Given the description of an element on the screen output the (x, y) to click on. 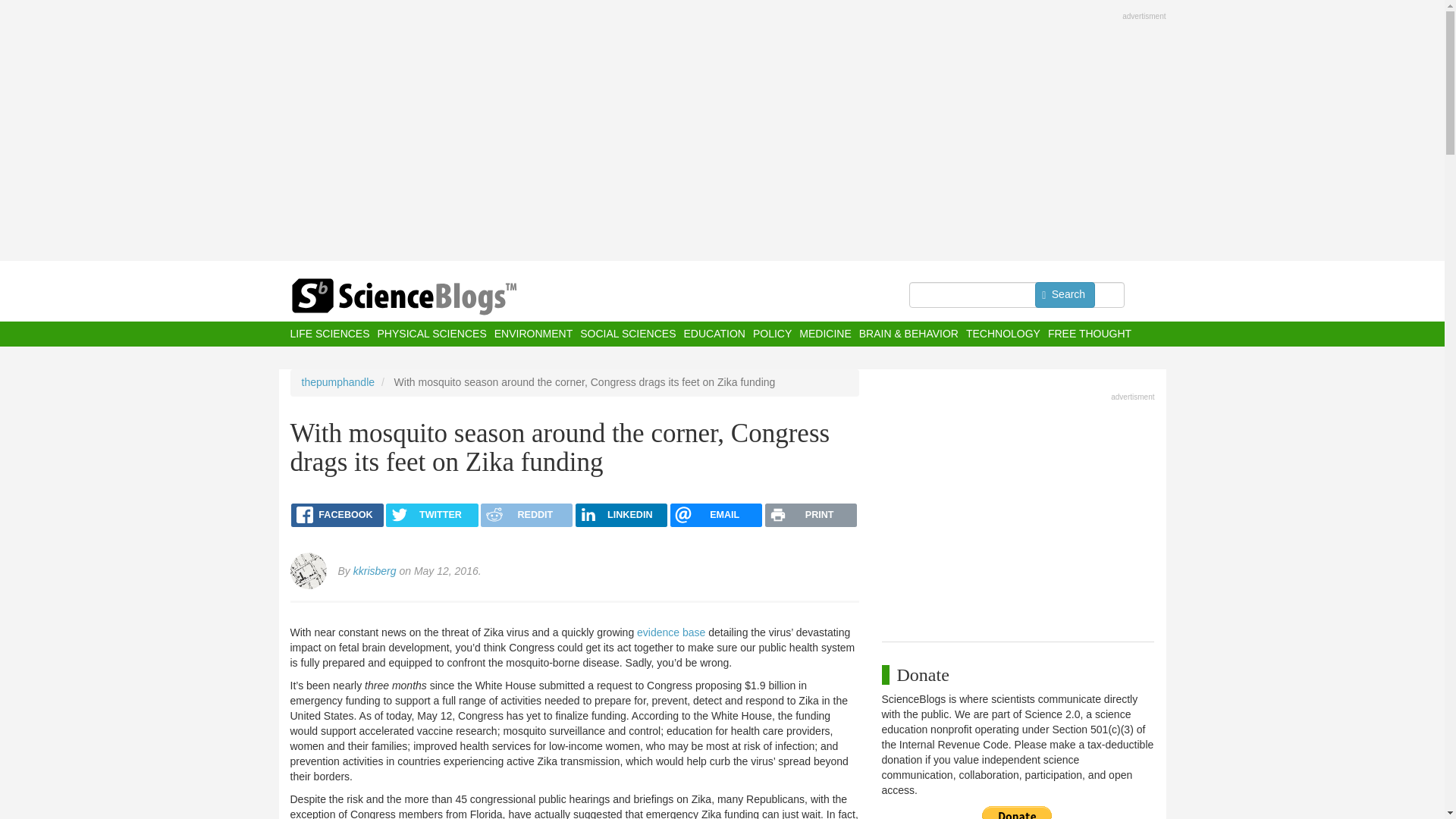
EMAIL (715, 515)
thepumphandle (338, 381)
FREE THOUGHT (1089, 334)
SOCIAL SCIENCES (627, 334)
PHYSICAL SCIENCES (431, 334)
ENVIRONMENT (533, 334)
MEDICINE (824, 334)
TWITTER (431, 515)
FACEBOOK (336, 515)
evidence base (670, 632)
Home (433, 296)
PayPal - The safer, easier way to pay online! (1016, 812)
kkrisberg (374, 571)
